Given the description of an element on the screen output the (x, y) to click on. 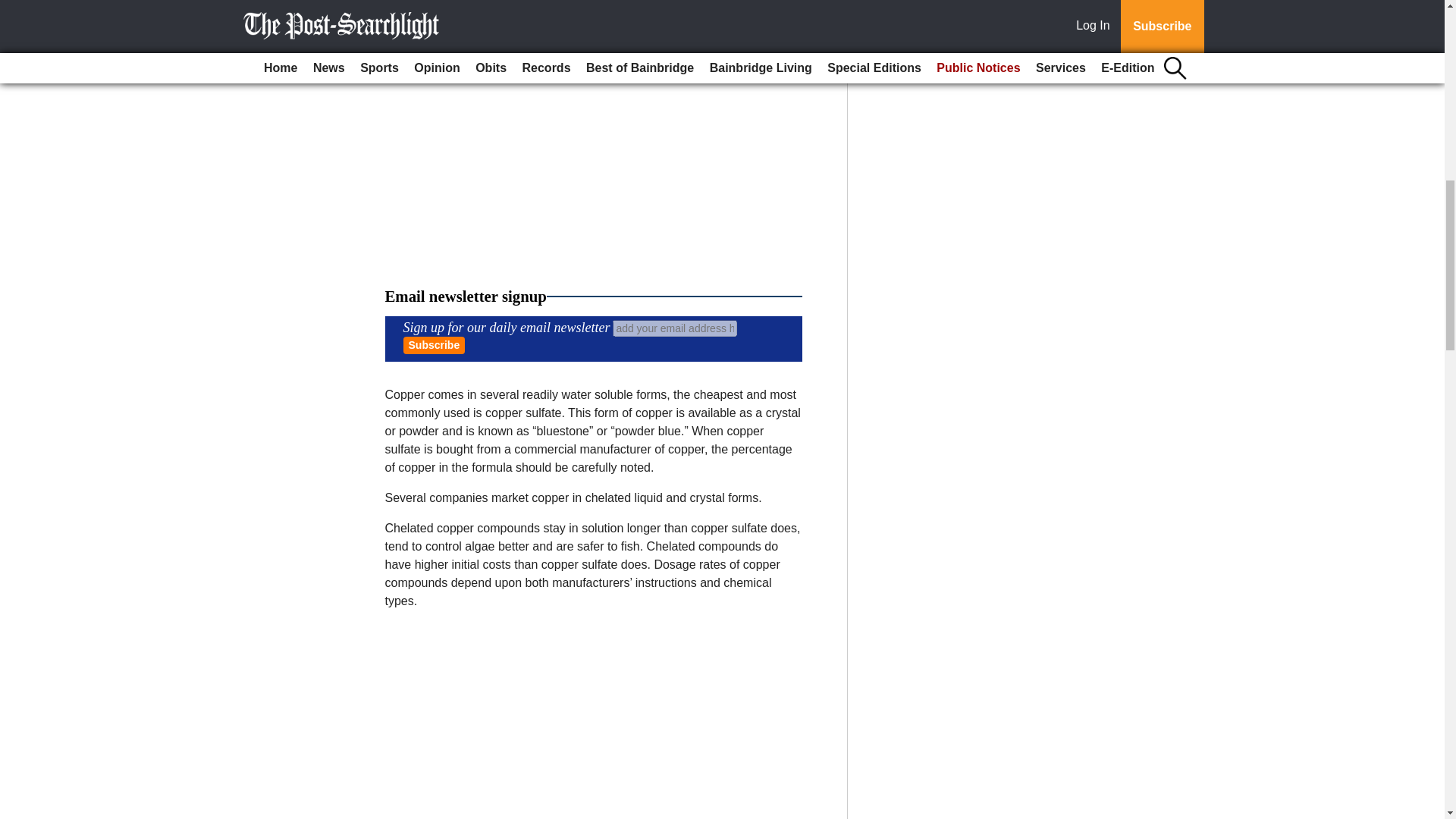
Subscribe (434, 344)
Subscribe (434, 344)
